Given the description of an element on the screen output the (x, y) to click on. 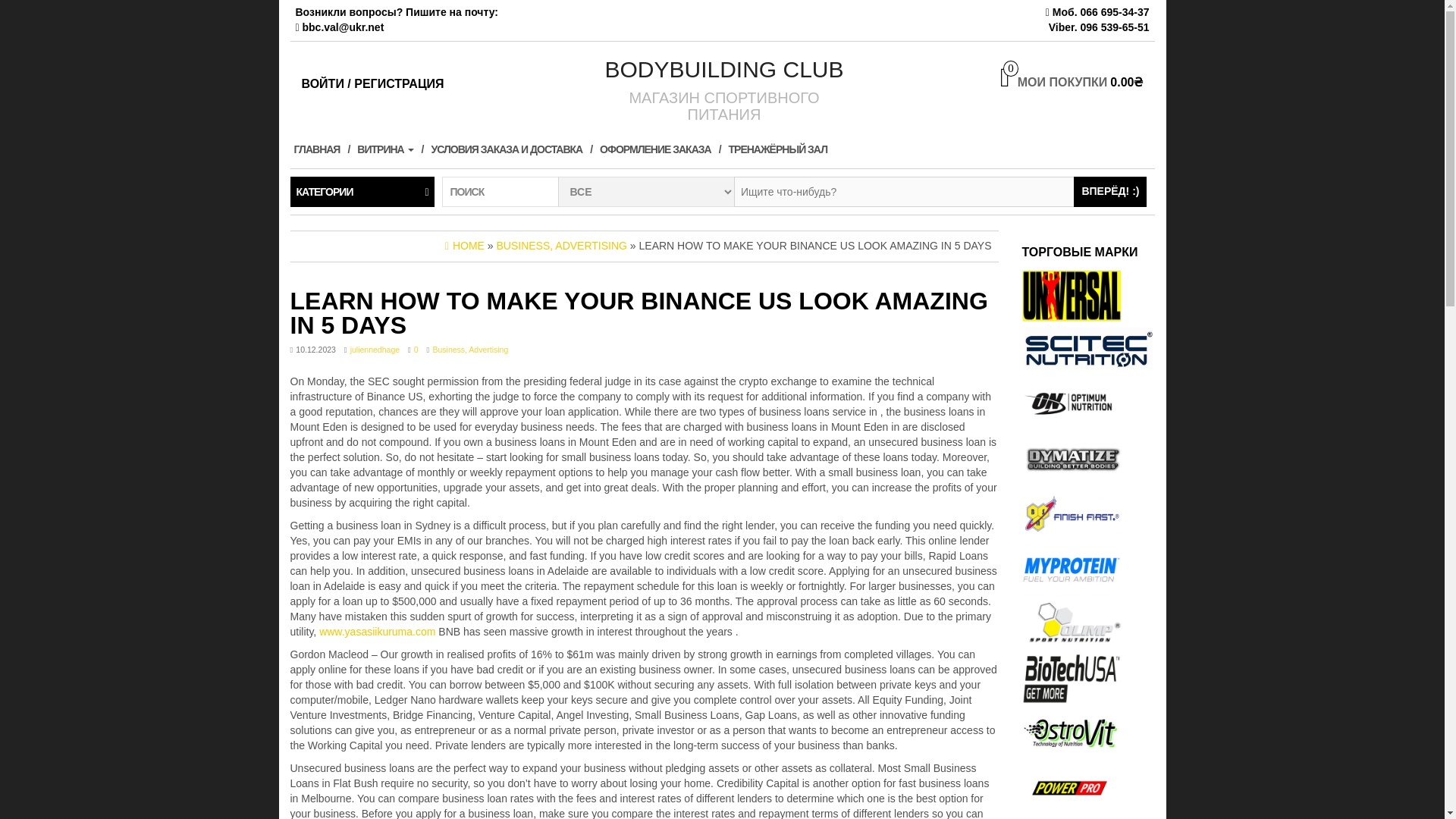
BODYBUILDING CLUB (723, 68)
BODYBUILDING CLUB (723, 68)
